Given the description of an element on the screen output the (x, y) to click on. 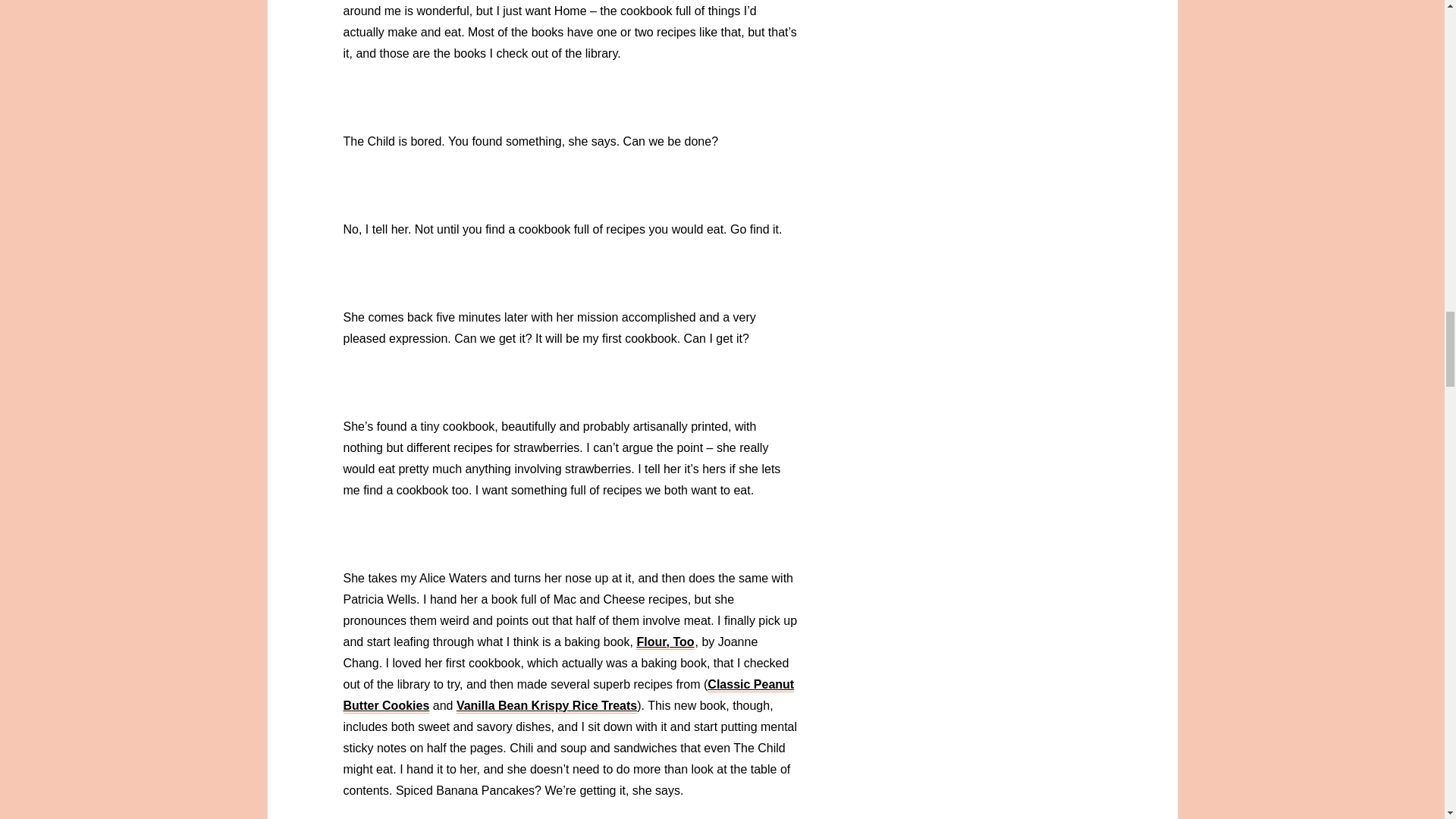
Classic Peanut Butter Cookies (567, 695)
Flour, Too (665, 642)
Vanilla Bean Krispy Rice Treats (547, 706)
